Given the description of an element on the screen output the (x, y) to click on. 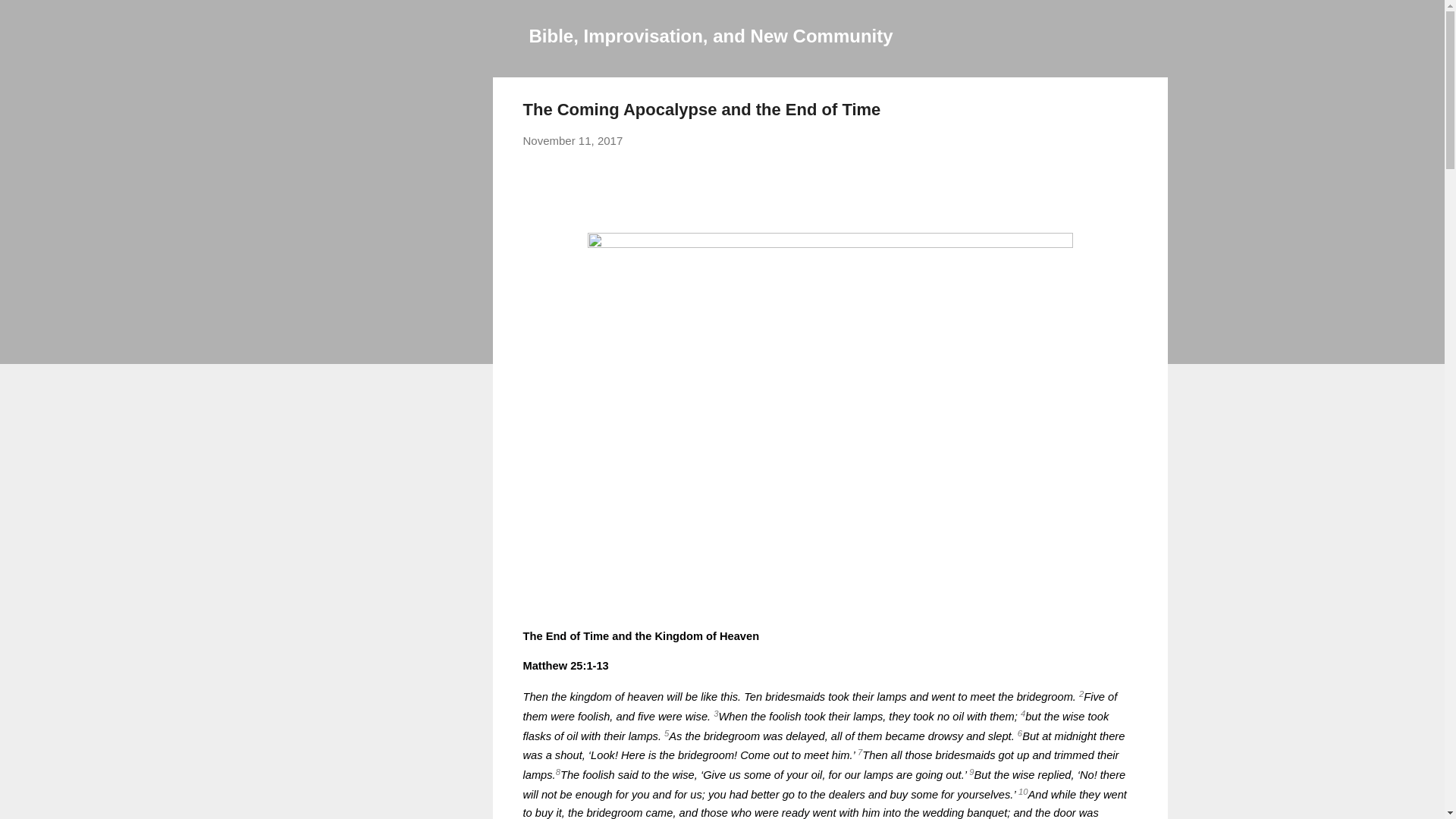
Bible, Improvisation, and New Community (711, 35)
permanent link (572, 140)
Search (29, 18)
November 11, 2017 (572, 140)
